Given the description of an element on the screen output the (x, y) to click on. 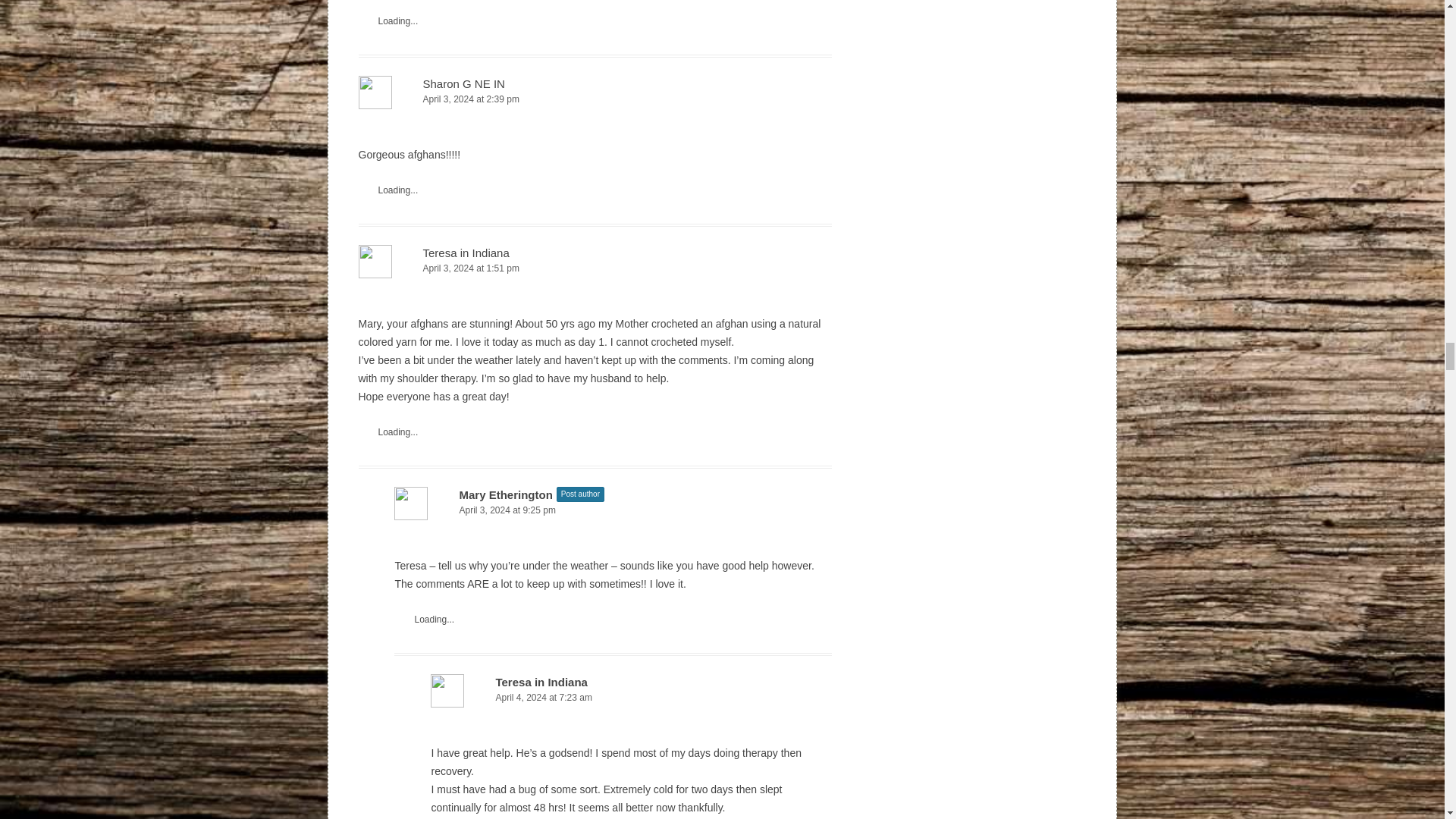
April 4, 2024 at 7:23 am (630, 697)
April 3, 2024 at 9:25 pm (612, 510)
April 3, 2024 at 2:39 pm (594, 99)
April 3, 2024 at 1:51 pm (594, 268)
